Given the description of an element on the screen output the (x, y) to click on. 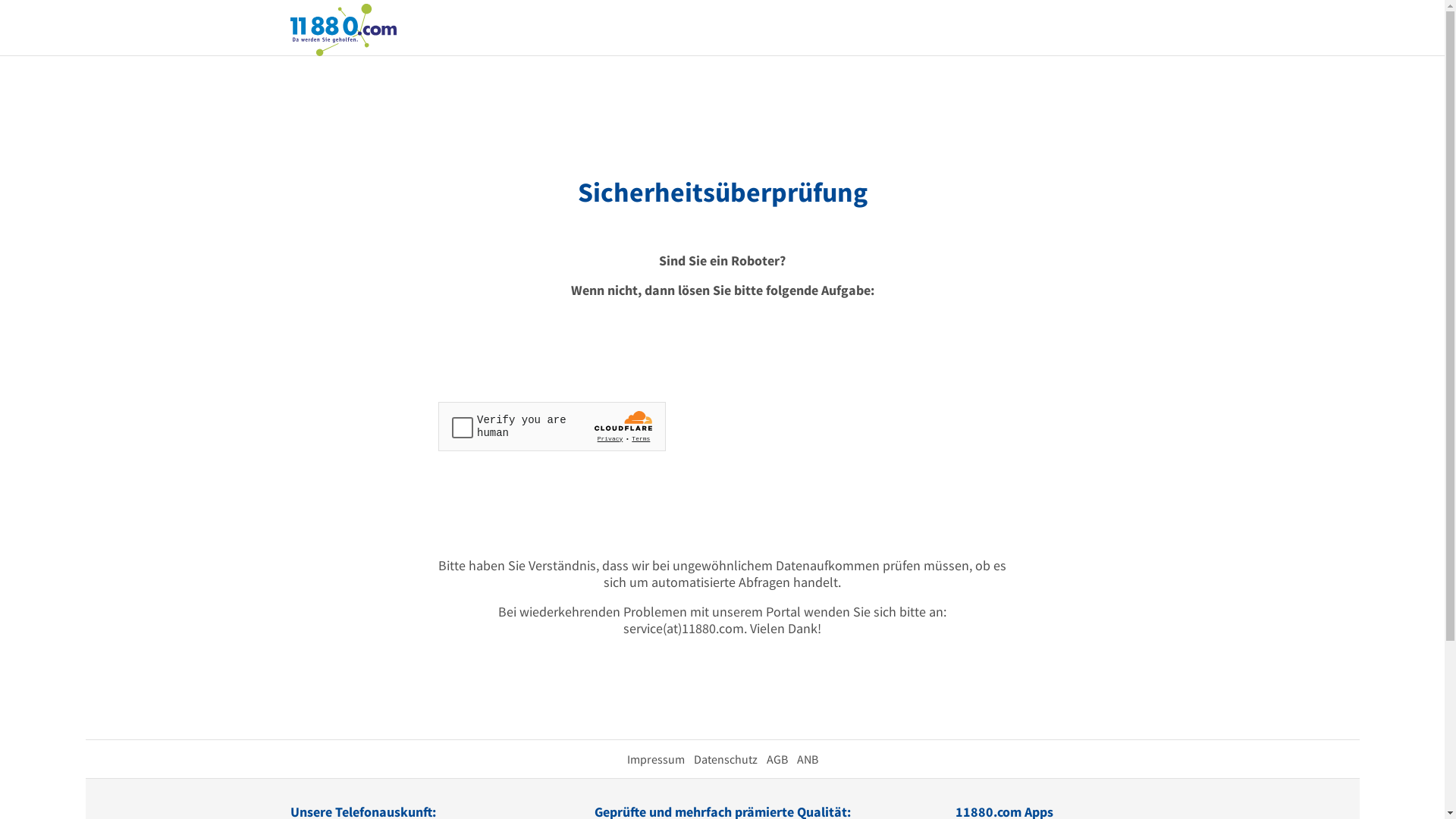
ANB Element type: text (806, 758)
Widget containing a Cloudflare security challenge Element type: hover (551, 426)
Datenschutz Element type: text (724, 758)
Impressum Element type: text (655, 758)
11880.com Element type: hover (342, 28)
AGB Element type: text (776, 758)
